Given the description of an element on the screen output the (x, y) to click on. 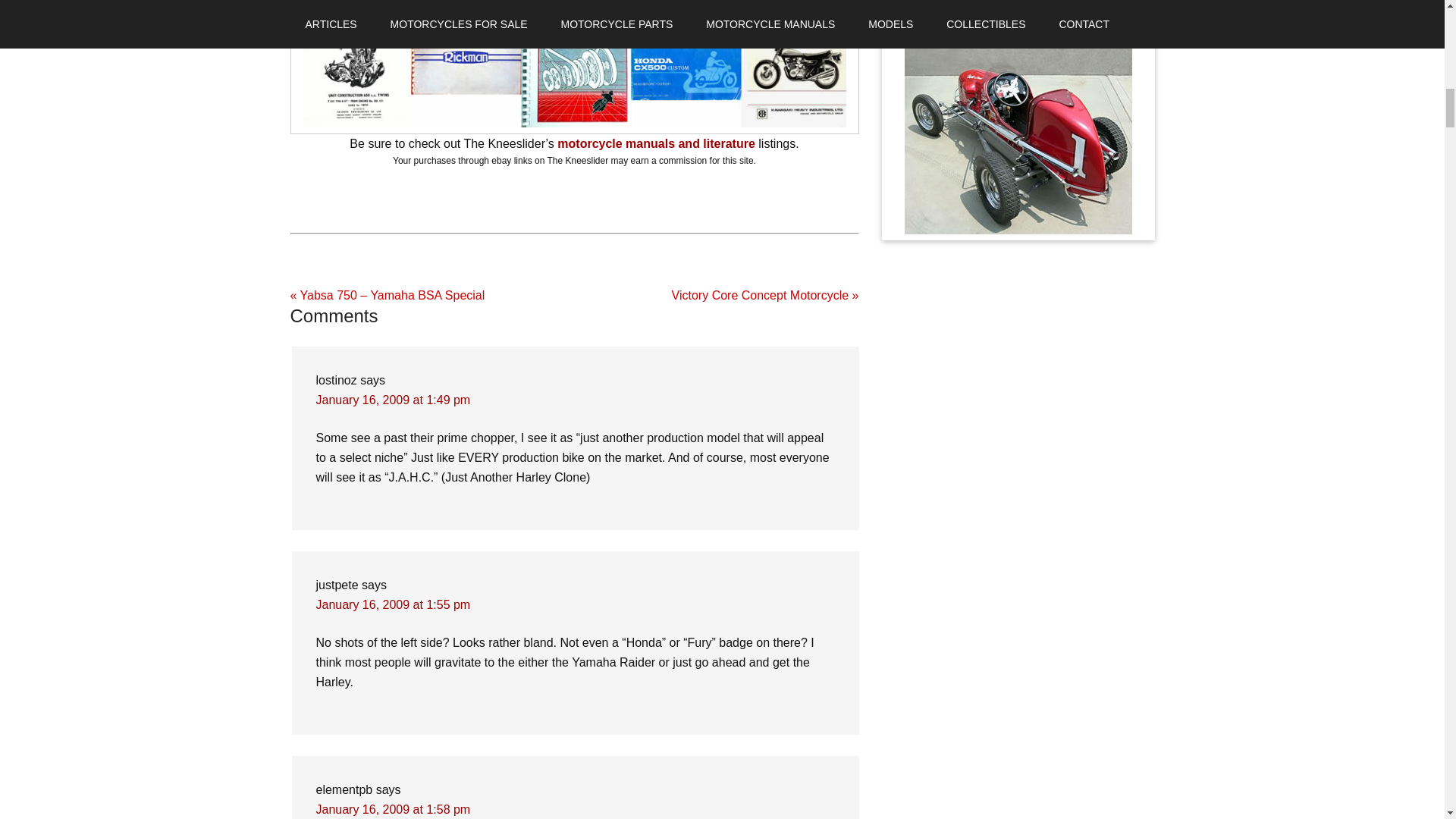
motorcycle manuals and literature (656, 143)
January 16, 2009 at 1:58 pm (392, 809)
January 16, 2009 at 1:49 pm (392, 399)
January 16, 2009 at 1:55 pm (392, 604)
Bill Vukovitch Drake Harley Davidson powered midget racer (1017, 139)
